Given the description of an element on the screen output the (x, y) to click on. 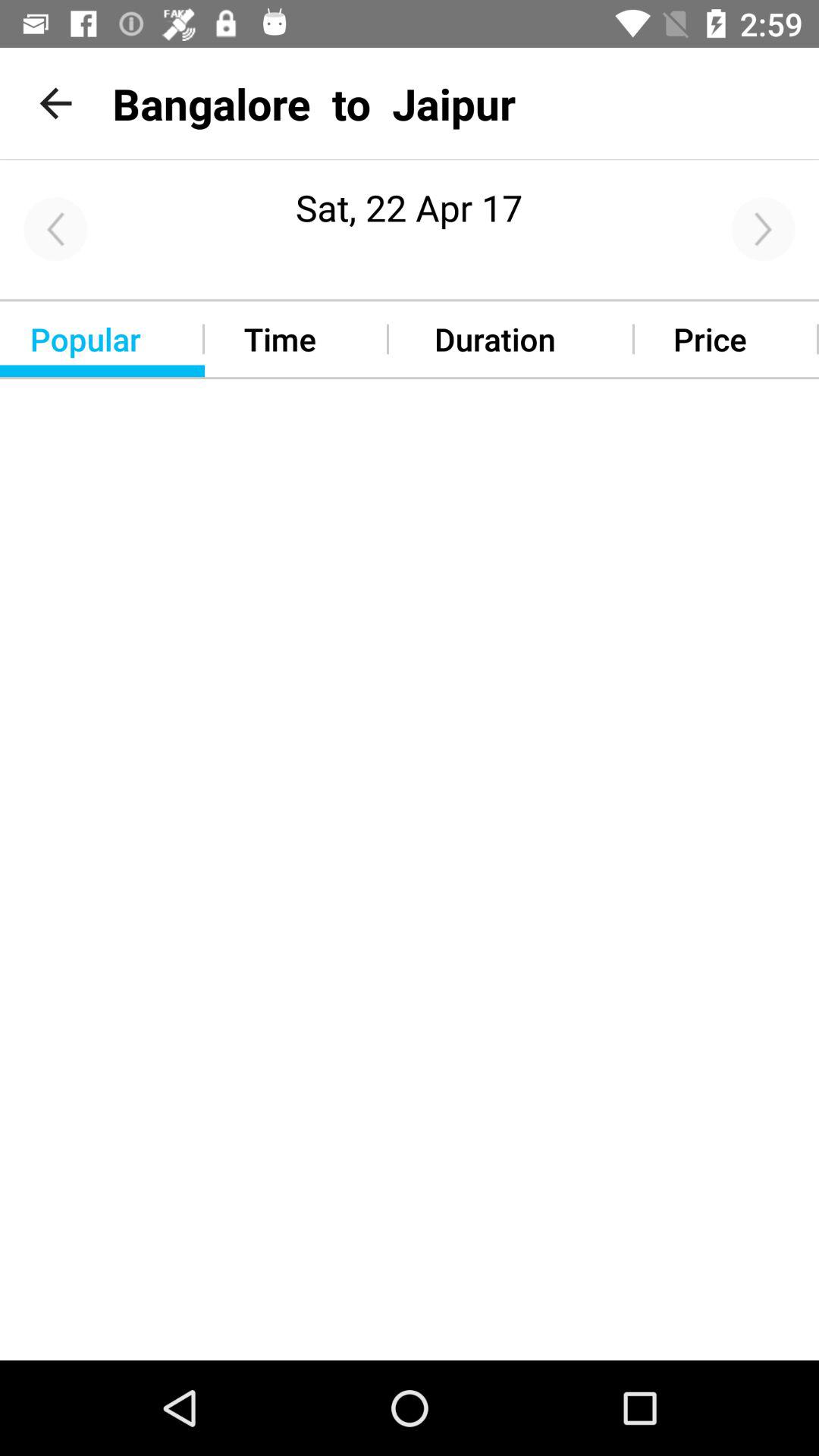
select go back icon on the left corner of the page (55, 228)
select the option beside the duration (726, 339)
